Given the description of an element on the screen output the (x, y) to click on. 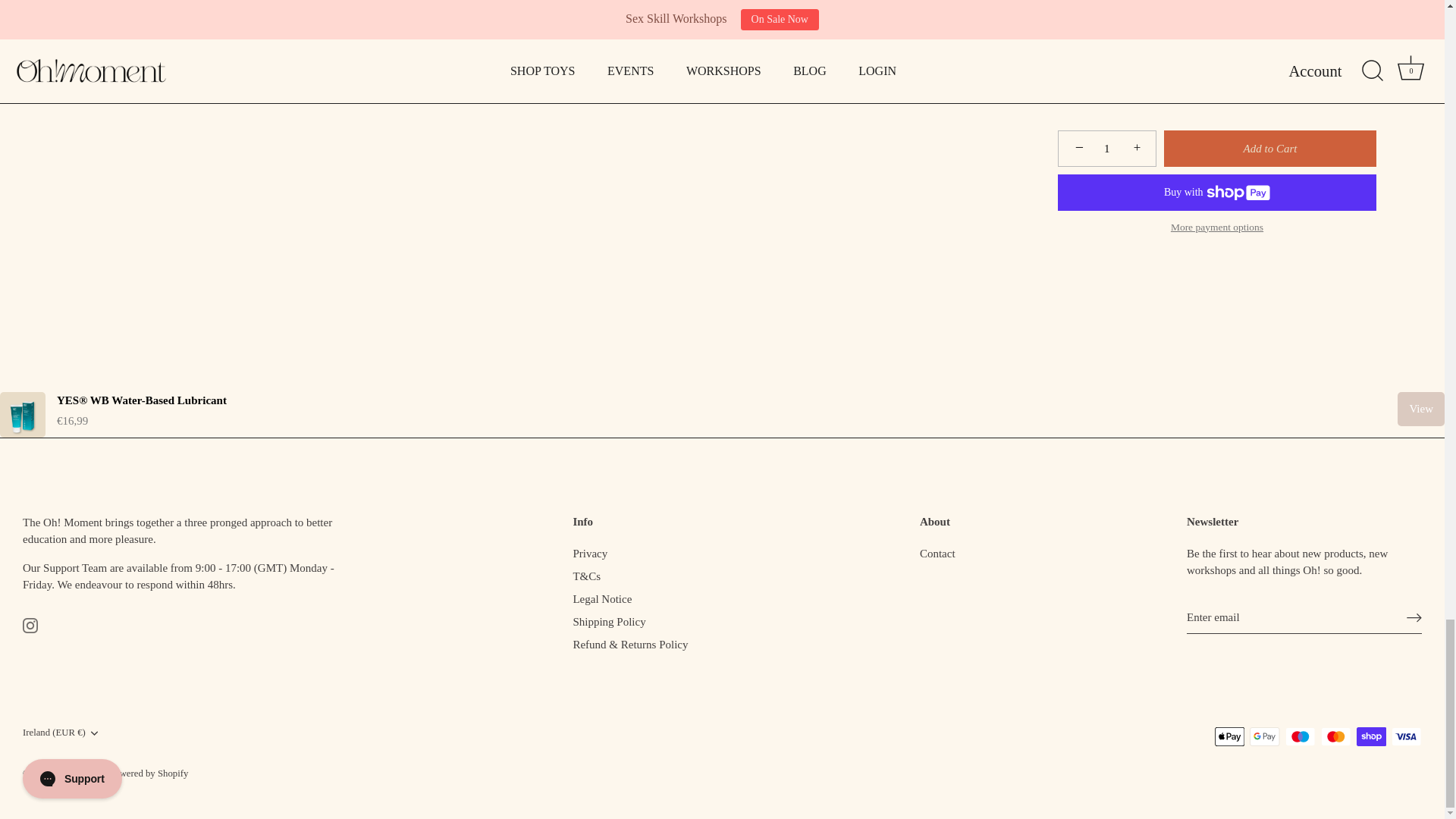
Visa (1406, 736)
Mastercard (1335, 736)
Privacy (589, 553)
Right arrow long (1414, 618)
Instagram (30, 625)
Maestro (1299, 736)
Legal Notice (601, 598)
Shipping Policy (608, 621)
Shop Pay (1371, 736)
Contact (937, 553)
Google Pay (1264, 736)
Right arrow long (1414, 617)
Instagram (30, 624)
Apple Pay (1229, 736)
